Given the description of an element on the screen output the (x, y) to click on. 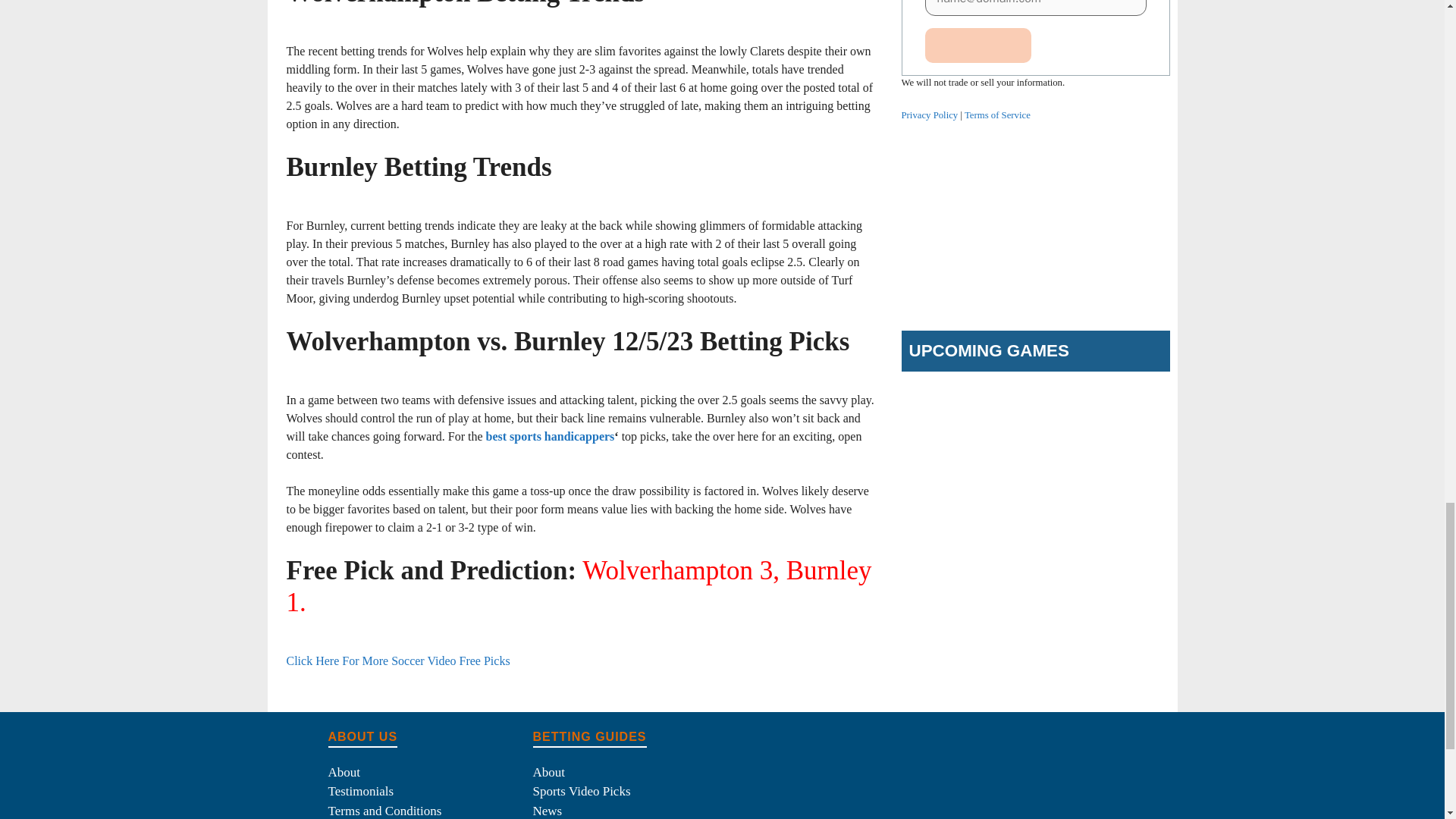
Sign up (978, 45)
